Given the description of an element on the screen output the (x, y) to click on. 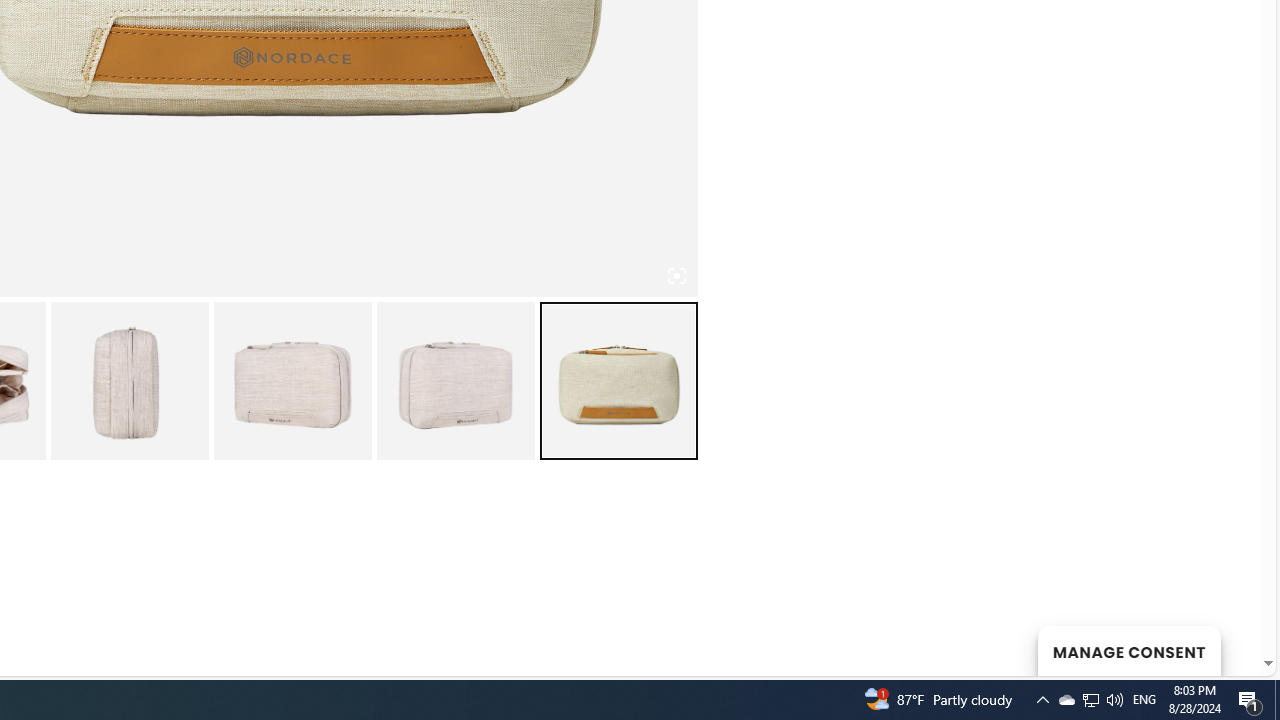
MANAGE CONSENT (1128, 650)
Nordace Siena Pro Wash Pouch (128, 380)
Class: iconic-woothumbs-fullscreen (676, 276)
